Given the description of an element on the screen output the (x, y) to click on. 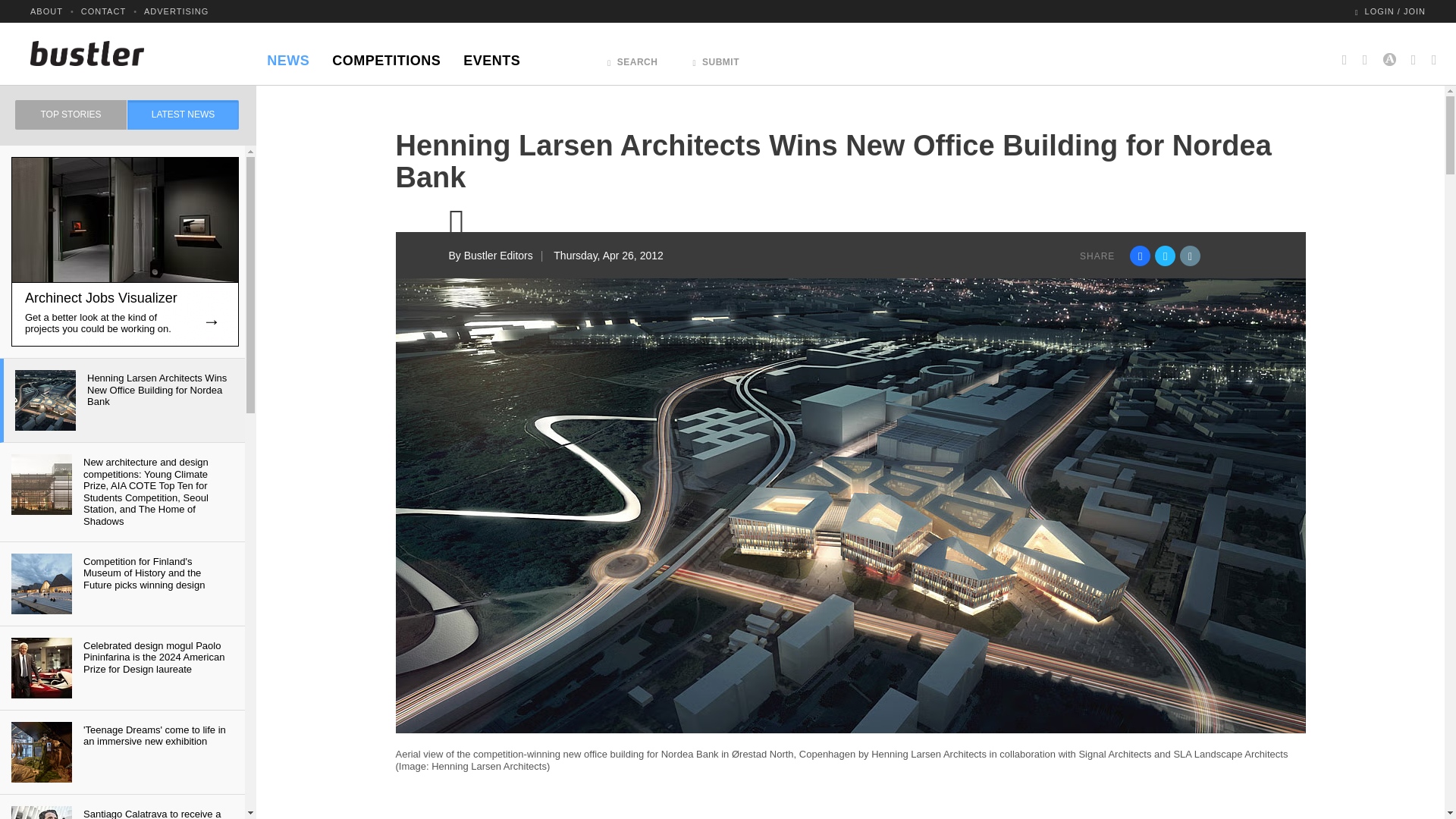
SUBMIT (715, 57)
CONTACT (103, 10)
EVENTS (491, 56)
Bustler is powered by Archinect (1389, 53)
NEWS (288, 56)
ABOUT (46, 10)
ADVERTISING (176, 10)
COMPETITIONS (385, 56)
SEARCH (632, 57)
